Given the description of an element on the screen output the (x, y) to click on. 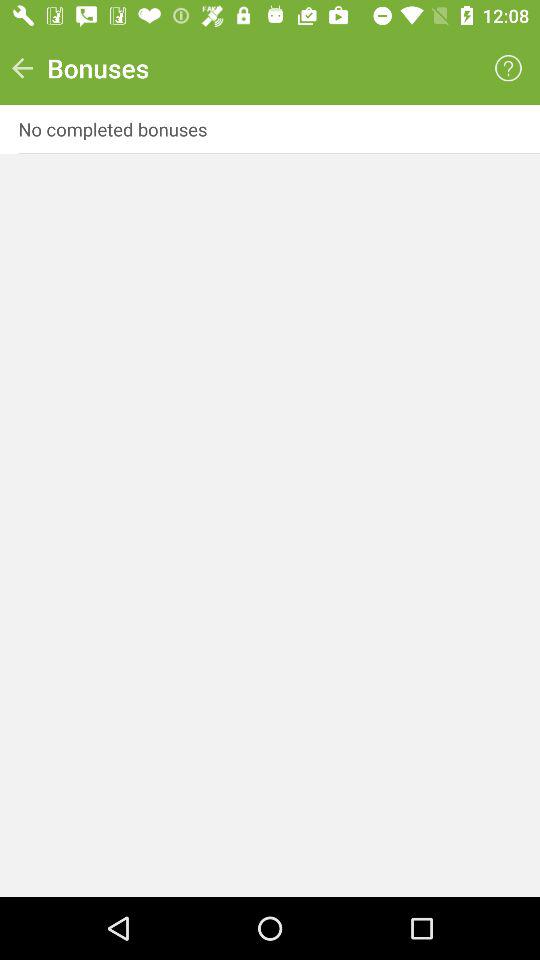
launch the icon next to the bonuses (508, 67)
